Given the description of an element on the screen output the (x, y) to click on. 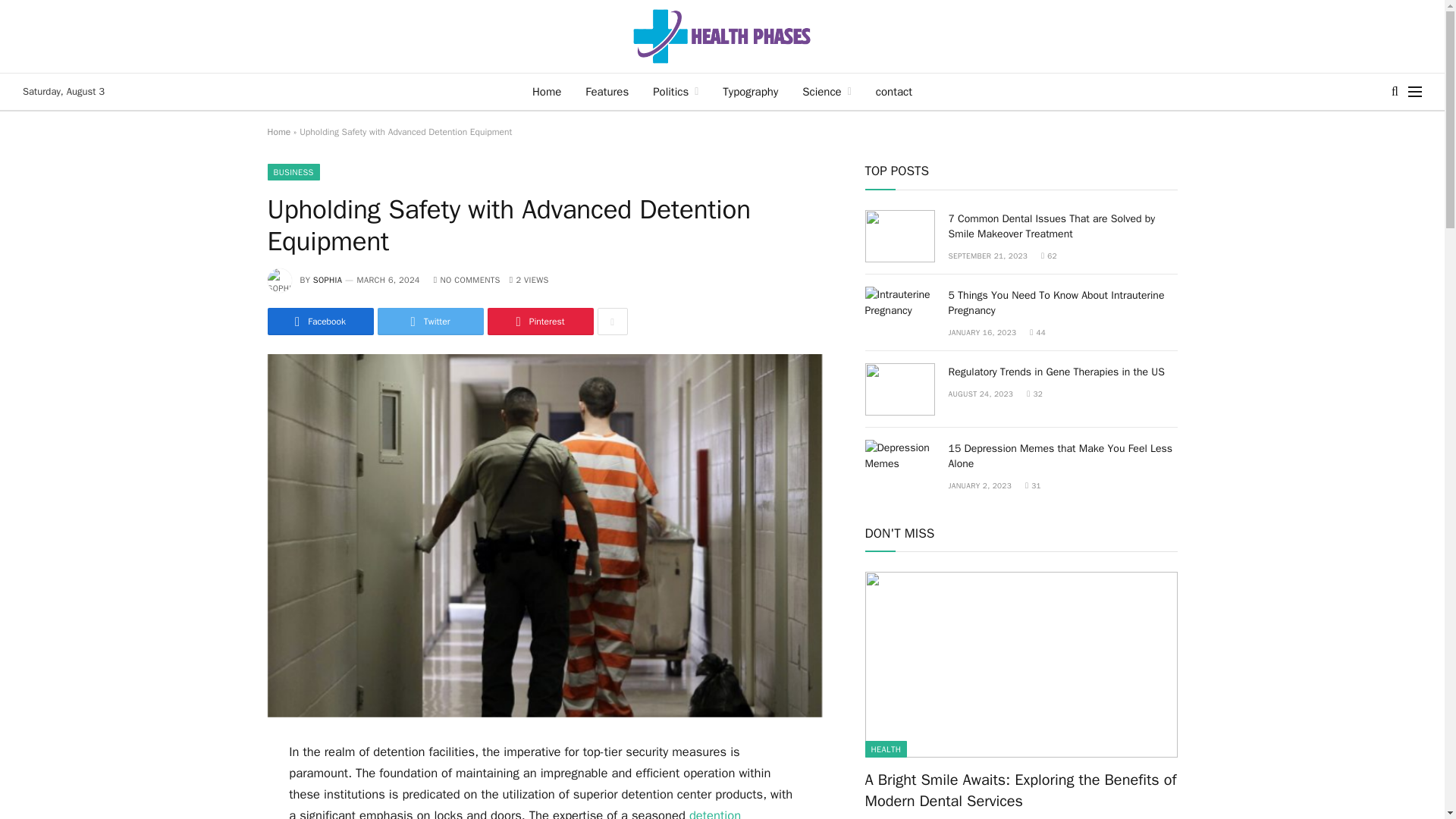
SOPHIA (327, 279)
Features (606, 91)
contact (893, 91)
Home (546, 91)
Pinterest (539, 320)
Twitter (430, 320)
Typography (750, 91)
Home (277, 132)
Science (826, 91)
NO COMMENTS (466, 279)
